Given the description of an element on the screen output the (x, y) to click on. 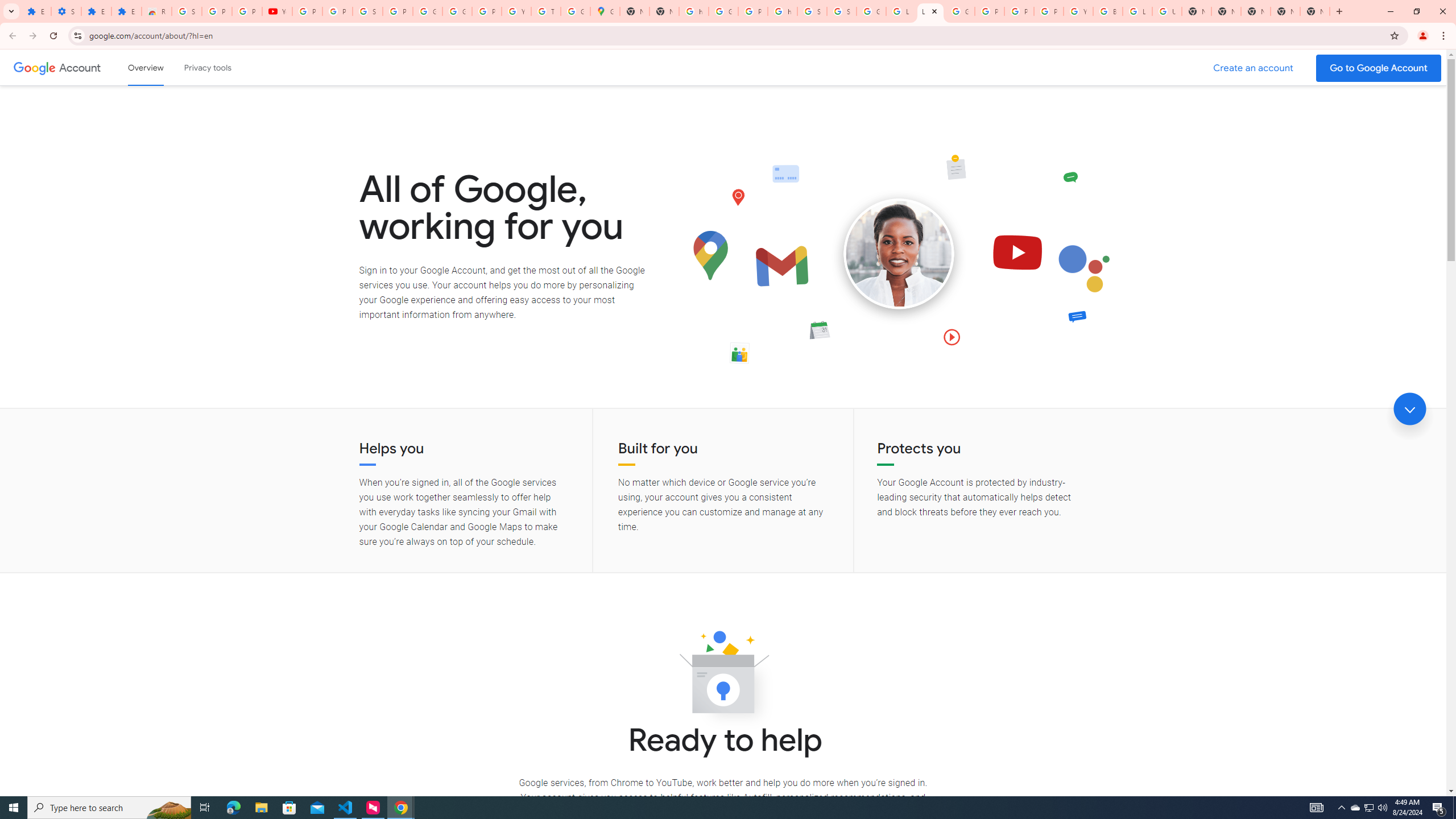
Extensions (95, 11)
YouTube (277, 11)
Ready to help (722, 675)
New Tab (1255, 11)
